Given the description of an element on the screen output the (x, y) to click on. 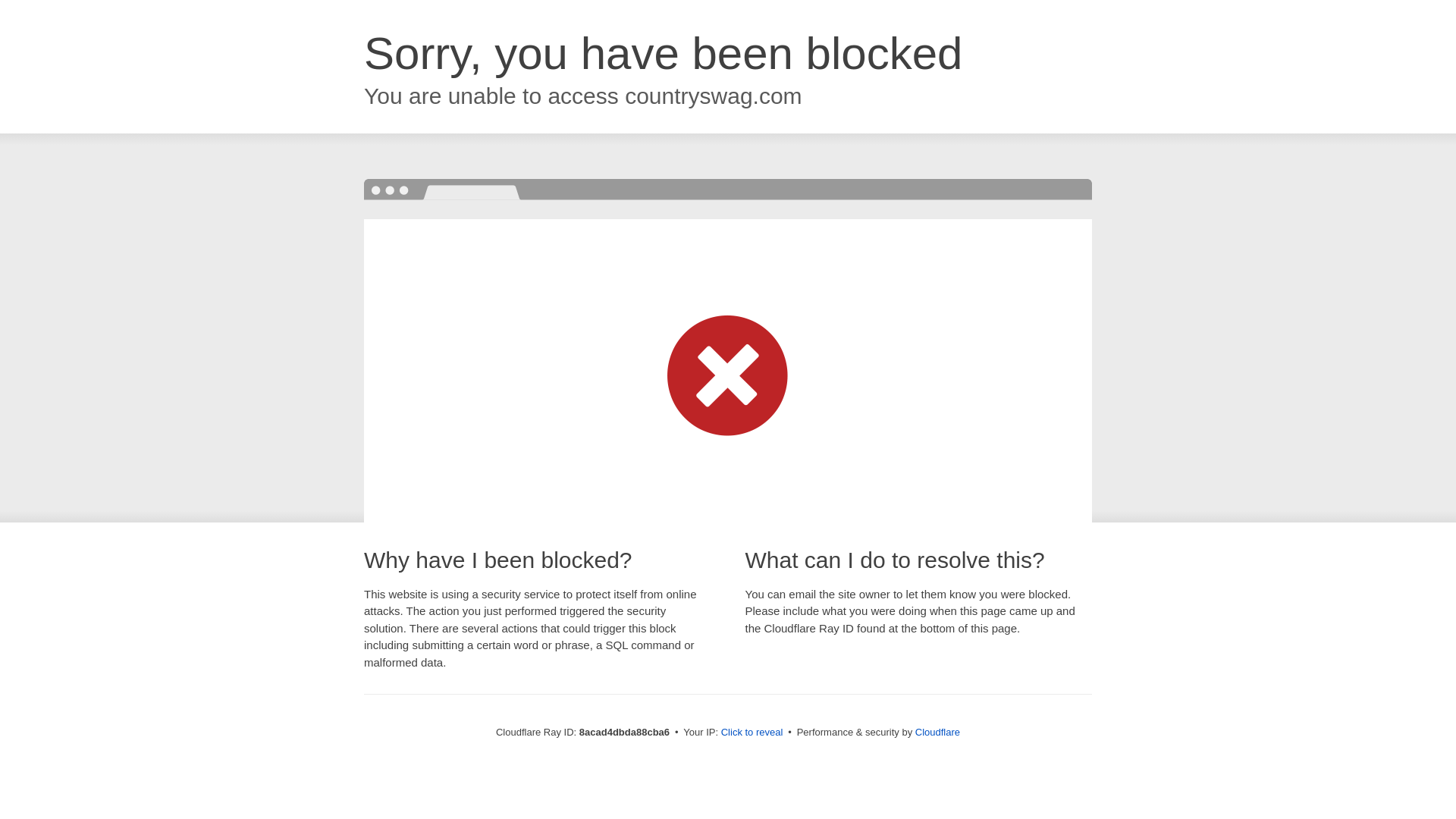
Cloudflare (937, 731)
Click to reveal (751, 732)
